Given the description of an element on the screen output the (x, y) to click on. 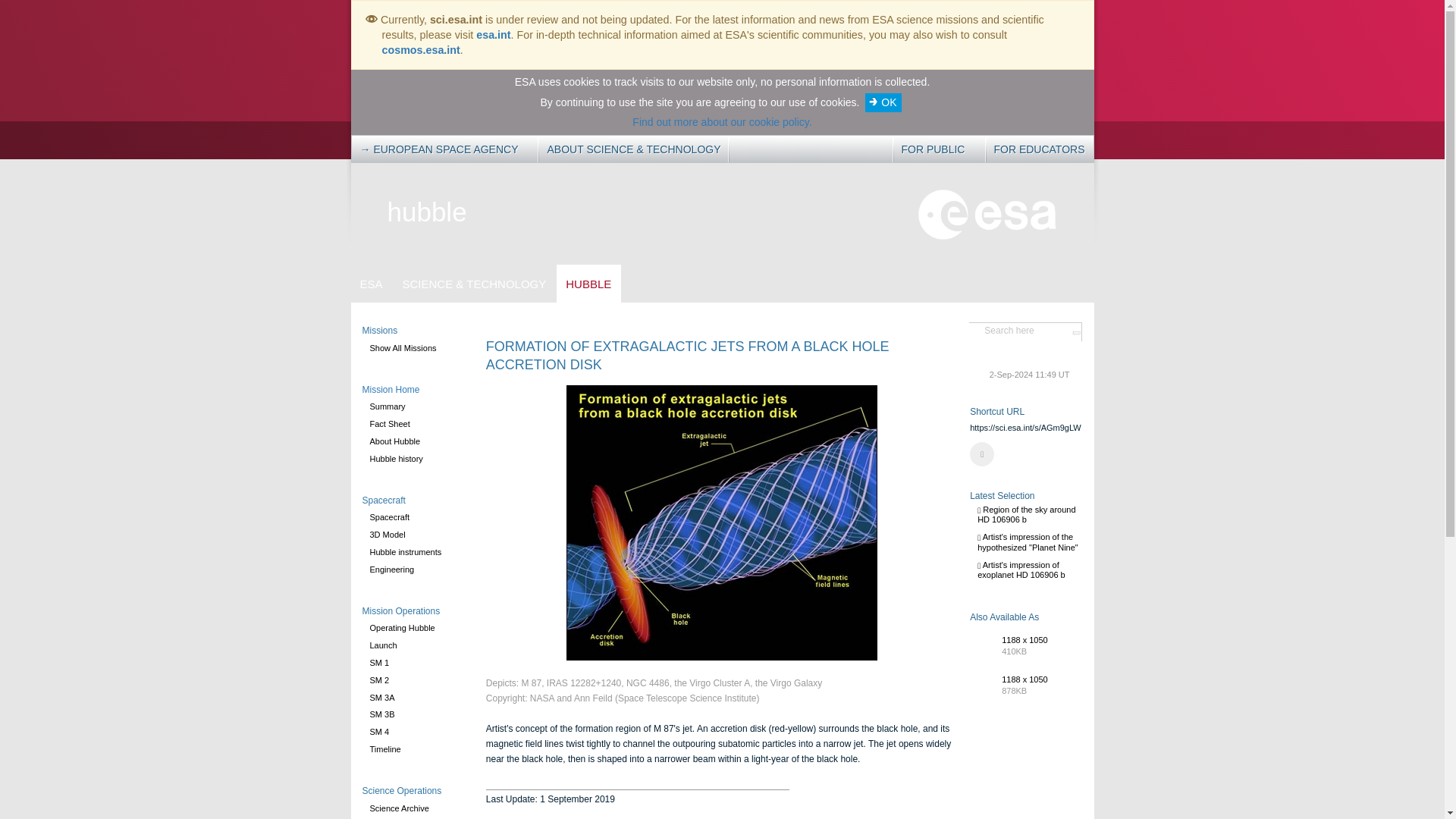
ESA (370, 283)
cosmos.esa.int (420, 50)
Find out more about our cookie policy. (720, 121)
FOR PUBLIC (935, 148)
OK (882, 102)
FOR EDUCATORS (1039, 148)
esa.int (493, 34)
